Given the description of an element on the screen output the (x, y) to click on. 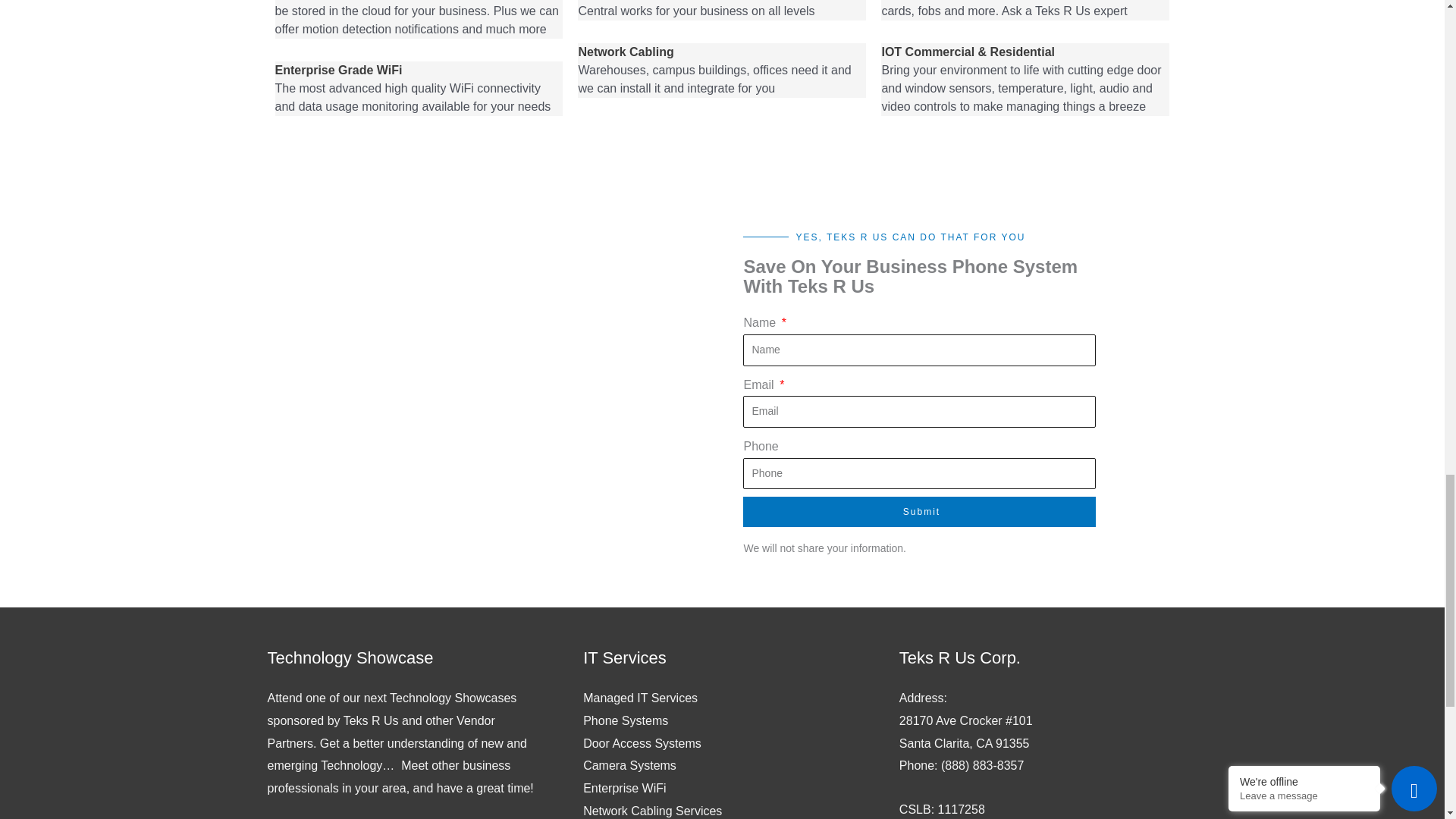
Submit (919, 511)
Camera Systems (630, 765)
Managed IT Services (640, 697)
Enterprise WiFi (624, 788)
1117258 (961, 809)
Door Access Systems (642, 743)
Network Cabling Services (652, 810)
Phone Systems (625, 720)
